Given the description of an element on the screen output the (x, y) to click on. 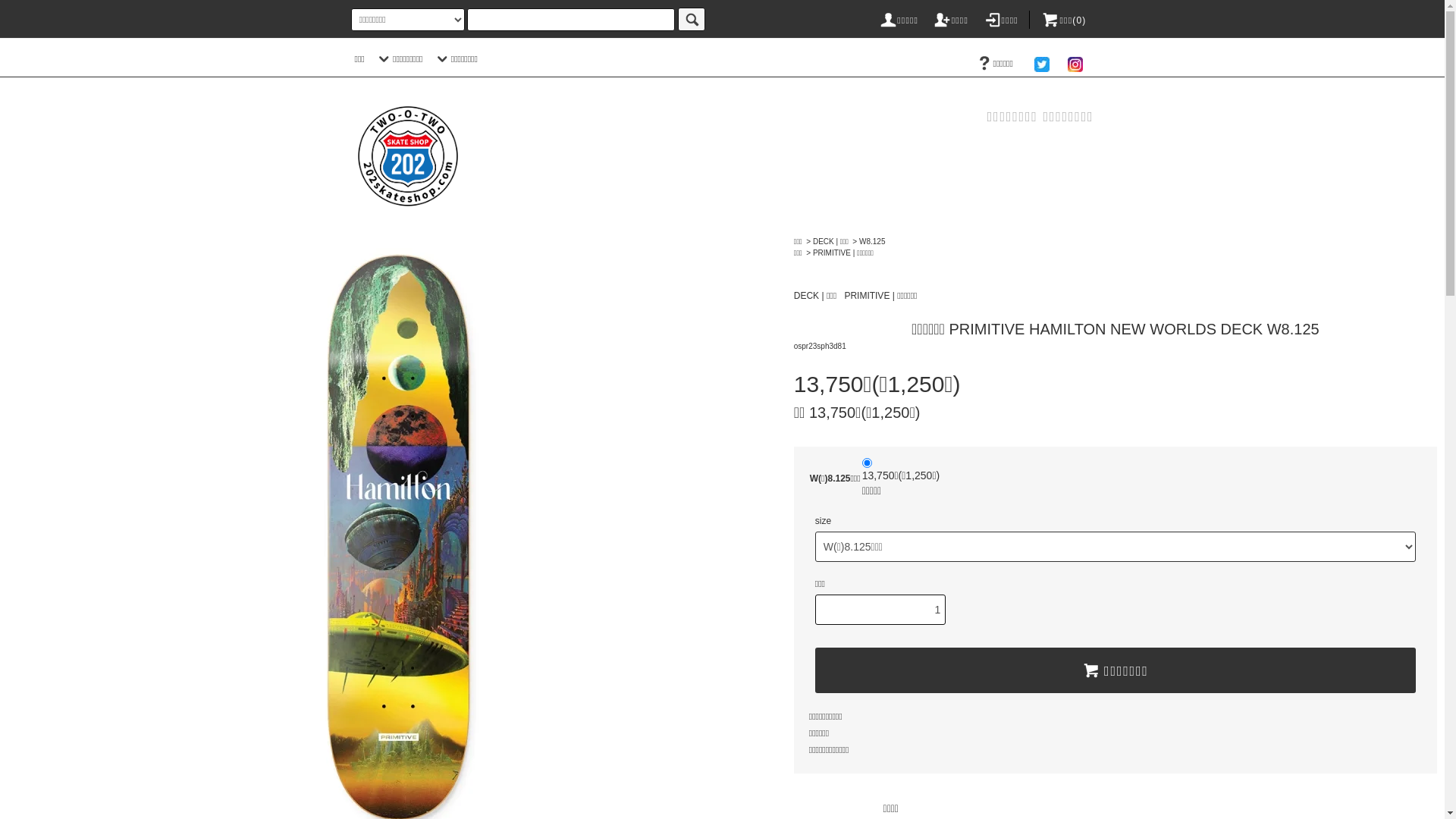
W8.125 Element type: text (871, 241)
